Given the description of an element on the screen output the (x, y) to click on. 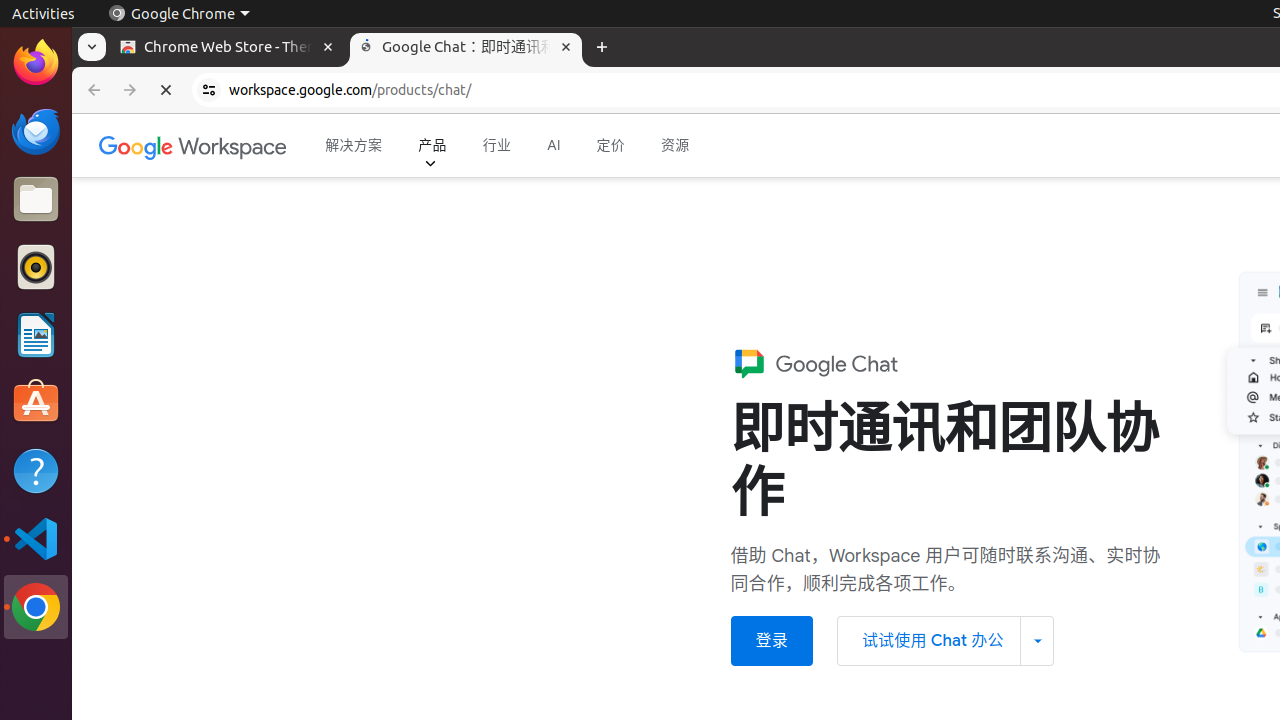
Google Chrome Element type: push-button (36, 607)
Firefox Web Browser Element type: push-button (36, 63)
Help Element type: push-button (36, 470)
New Tab Element type: push-button (602, 47)
Visual Studio Code Element type: push-button (36, 538)
